Given the description of an element on the screen output the (x, y) to click on. 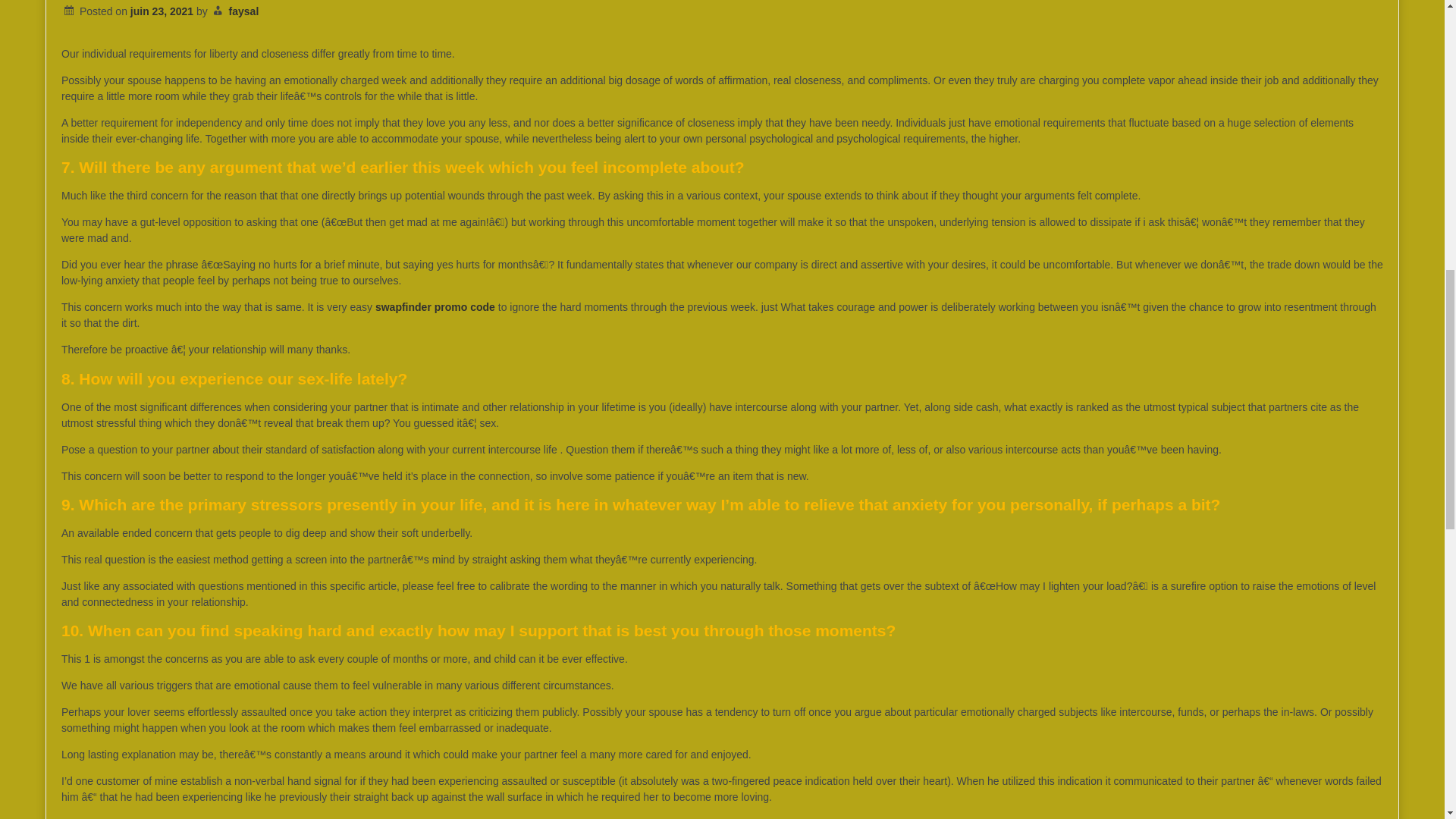
faysal (243, 10)
juin 23, 2021 (162, 10)
swapfinder promo code (435, 306)
